Given the description of an element on the screen output the (x, y) to click on. 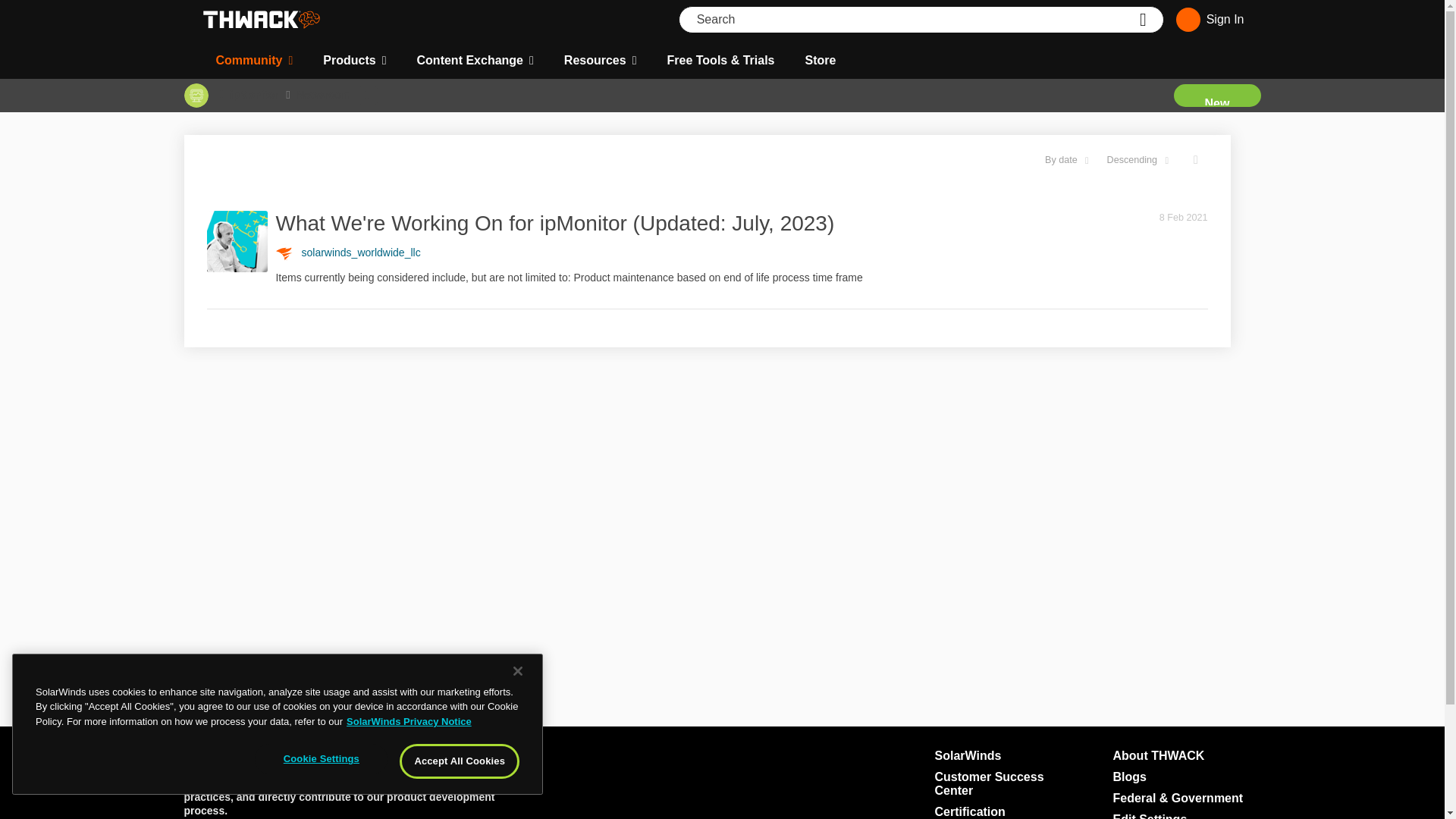
Home (260, 19)
Community (253, 60)
Products (354, 60)
Sign In (1207, 19)
Join or sign in (1207, 19)
Up to Products (221, 94)
